Given the description of an element on the screen output the (x, y) to click on. 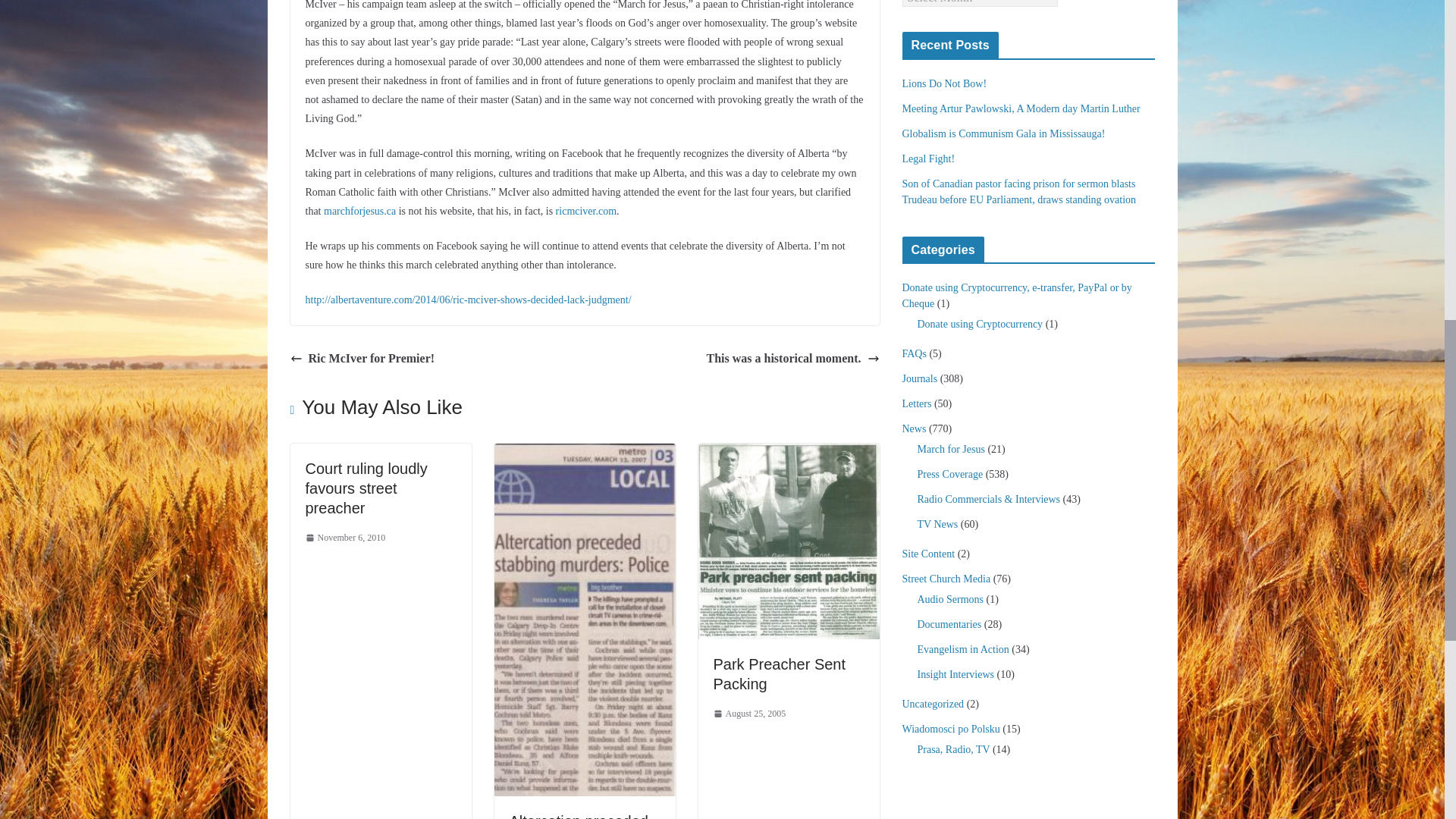
Altercation preceded stabbing murders: Police (585, 453)
Ric McIver for Premier! (361, 359)
August 25, 2005 (749, 713)
ricmciver.com (585, 211)
Altercation preceded stabbing murders: Police (578, 816)
8:22 pm (344, 538)
Court ruling loudly favours street preacher (365, 488)
Park Preacher Sent Packing (779, 674)
Park Preacher Sent Packing (788, 453)
Court ruling loudly favours street preacher (365, 488)
Altercation preceded stabbing murders: Police (578, 816)
November 6, 2010 (344, 538)
7:00 pm (749, 713)
This was a historical moment. (792, 359)
Park Preacher Sent Packing (779, 674)
